Given the description of an element on the screen output the (x, y) to click on. 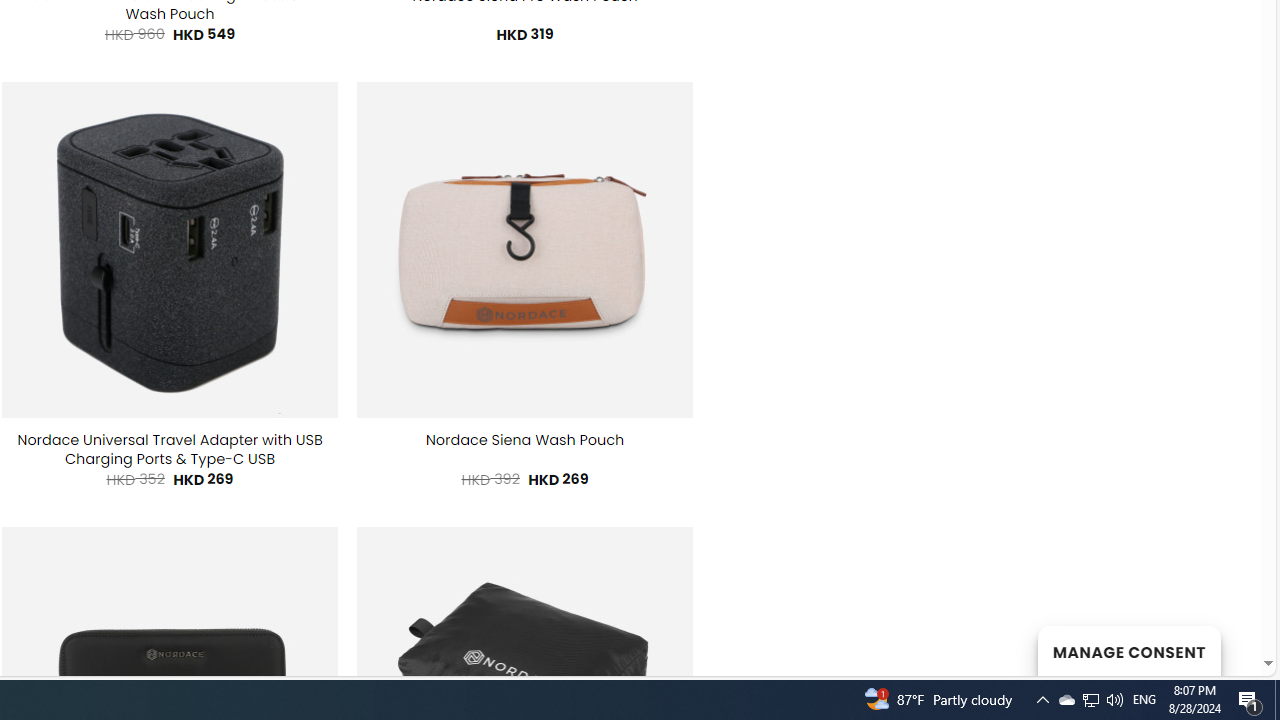
Nordace Siena Wash Pouch (524, 440)
MANAGE CONSENT (1128, 650)
